Given the description of an element on the screen output the (x, y) to click on. 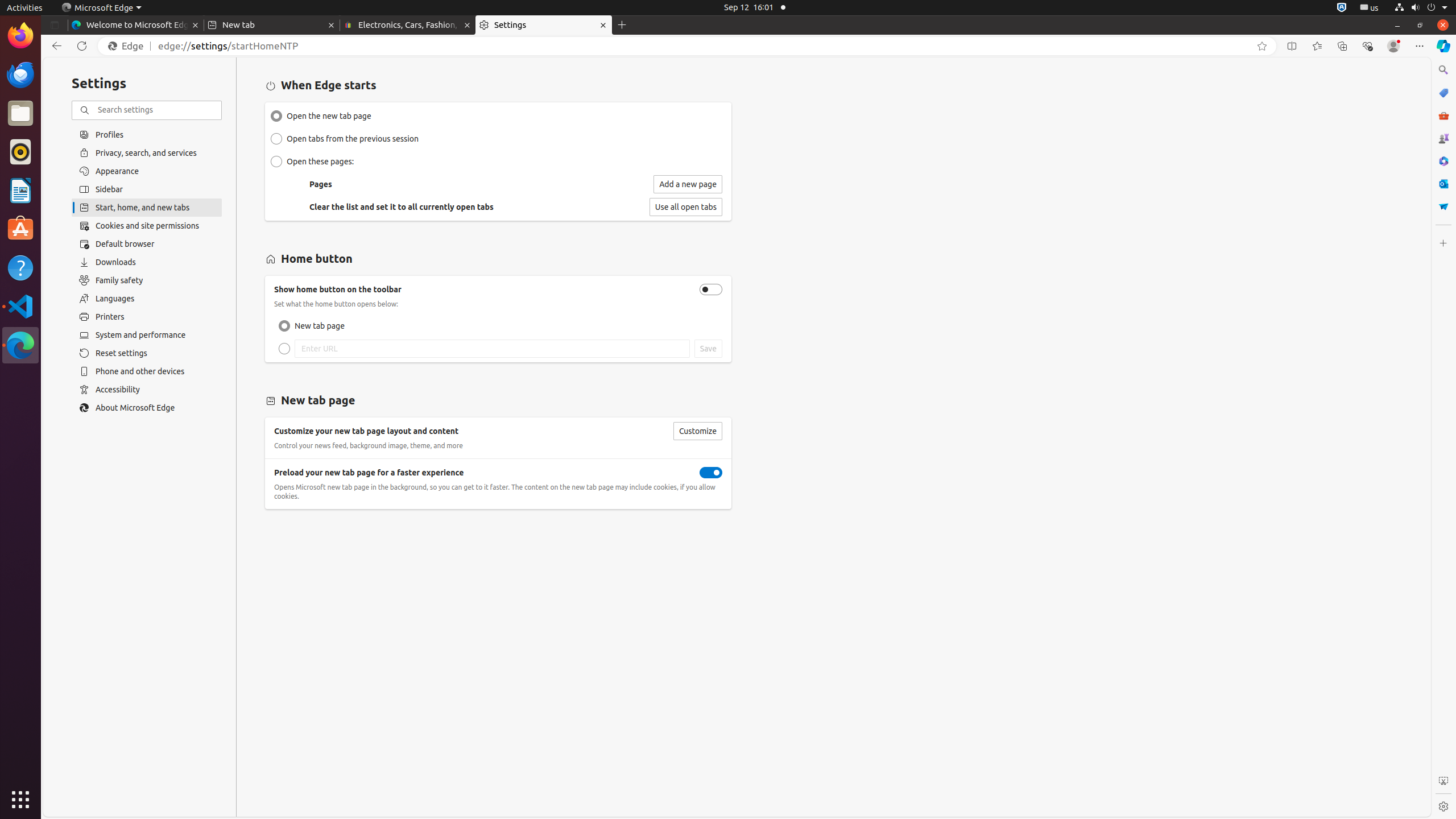
Microsoft Edge Element type: push-button (20, 344)
Open the new tab page Element type: radio-button (276, 115)
Games Element type: push-button (1443, 137)
Tab actions menu Element type: push-button (54, 24)
Visual Studio Code Element type: push-button (20, 306)
